Given the description of an element on the screen output the (x, y) to click on. 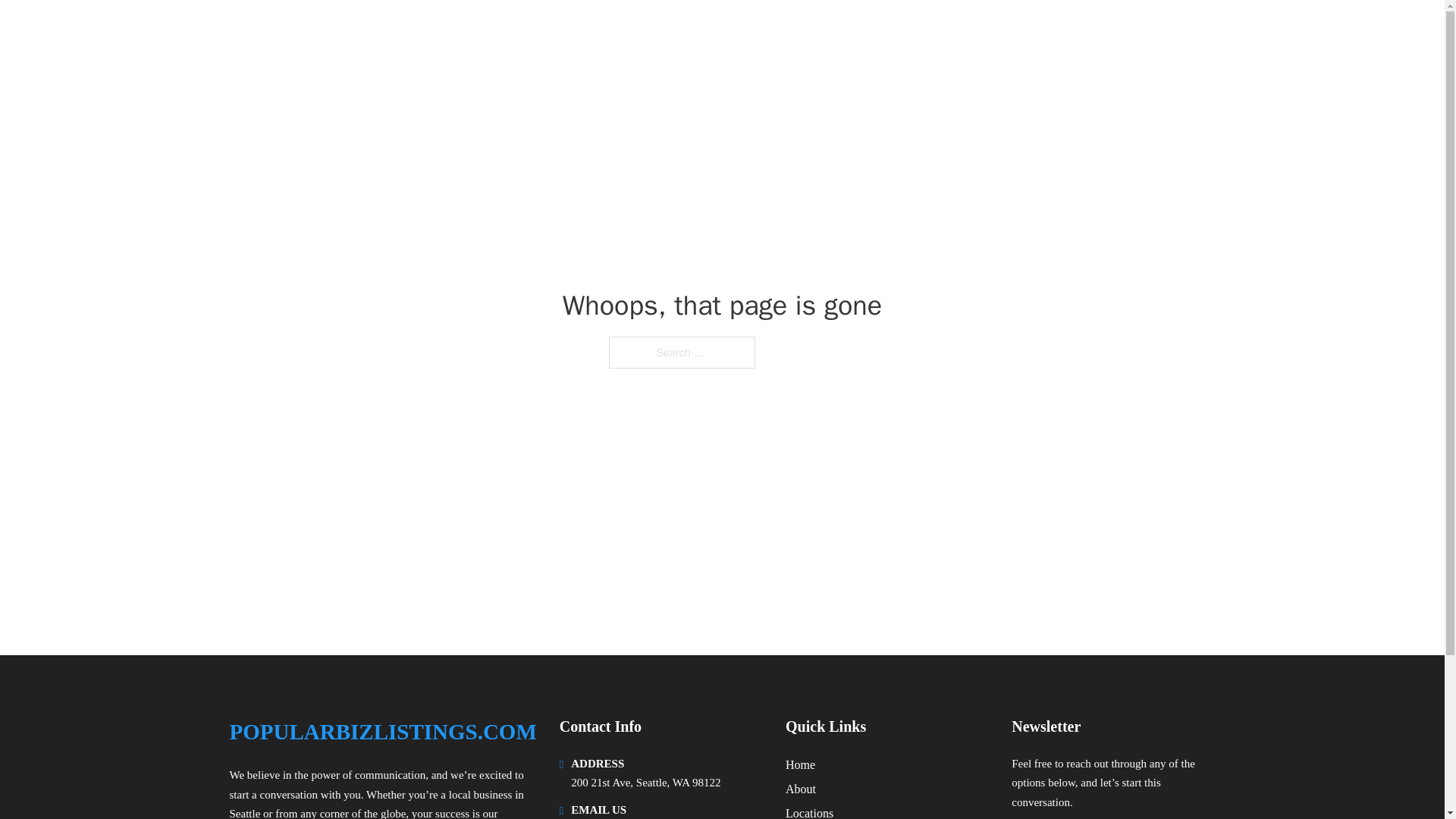
Locations (809, 811)
POPULARBIZLISTINGS.COM (397, 31)
LOCATIONS (1098, 31)
About (800, 788)
HOME (1025, 31)
Home (800, 764)
POPULARBIZLISTINGS.COM (381, 732)
